Given the description of an element on the screen output the (x, y) to click on. 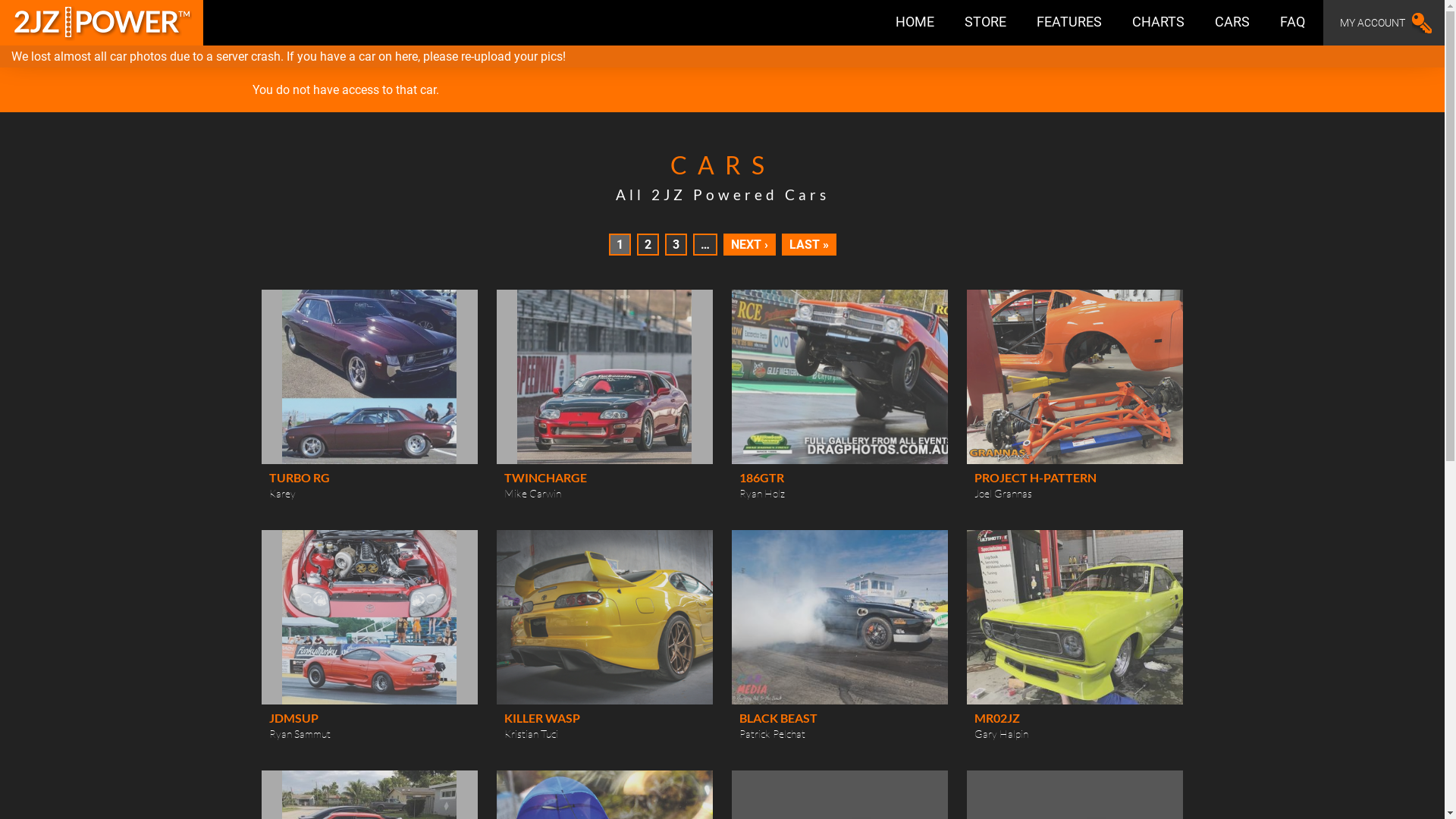
HOME Element type: text (914, 22)
2 Element type: text (647, 244)
3 Element type: text (674, 244)
STORE Element type: text (985, 22)
CHARTS Element type: text (1158, 22)
FEATURES Element type: text (1069, 22)
FAQ Element type: text (1292, 22)
CARS Element type: text (1231, 22)
